Given the description of an element on the screen output the (x, y) to click on. 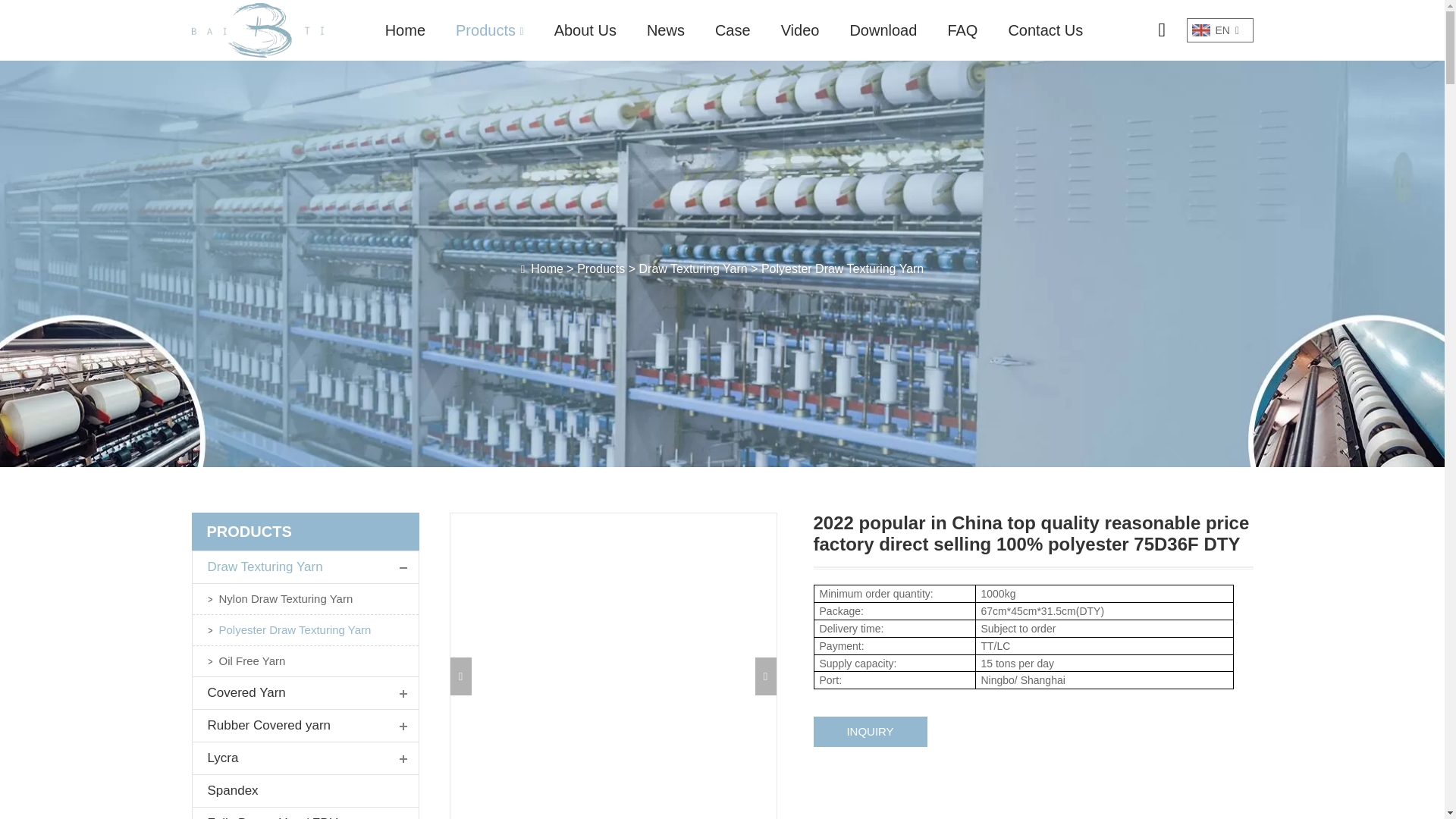
Products (489, 30)
